Given the description of an element on the screen output the (x, y) to click on. 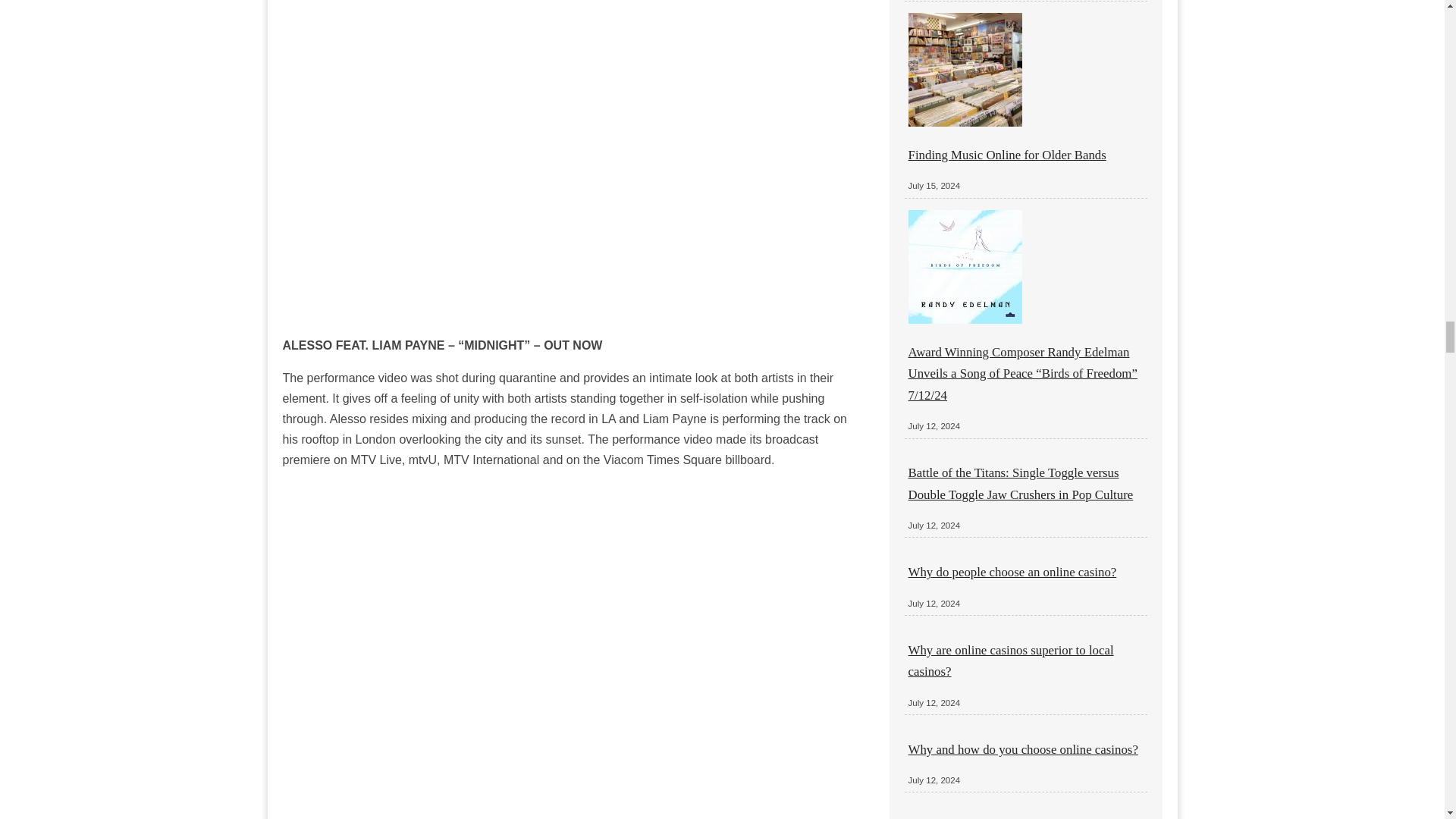
Finding Music Online for Older Bands (1007, 155)
